Given the description of an element on the screen output the (x, y) to click on. 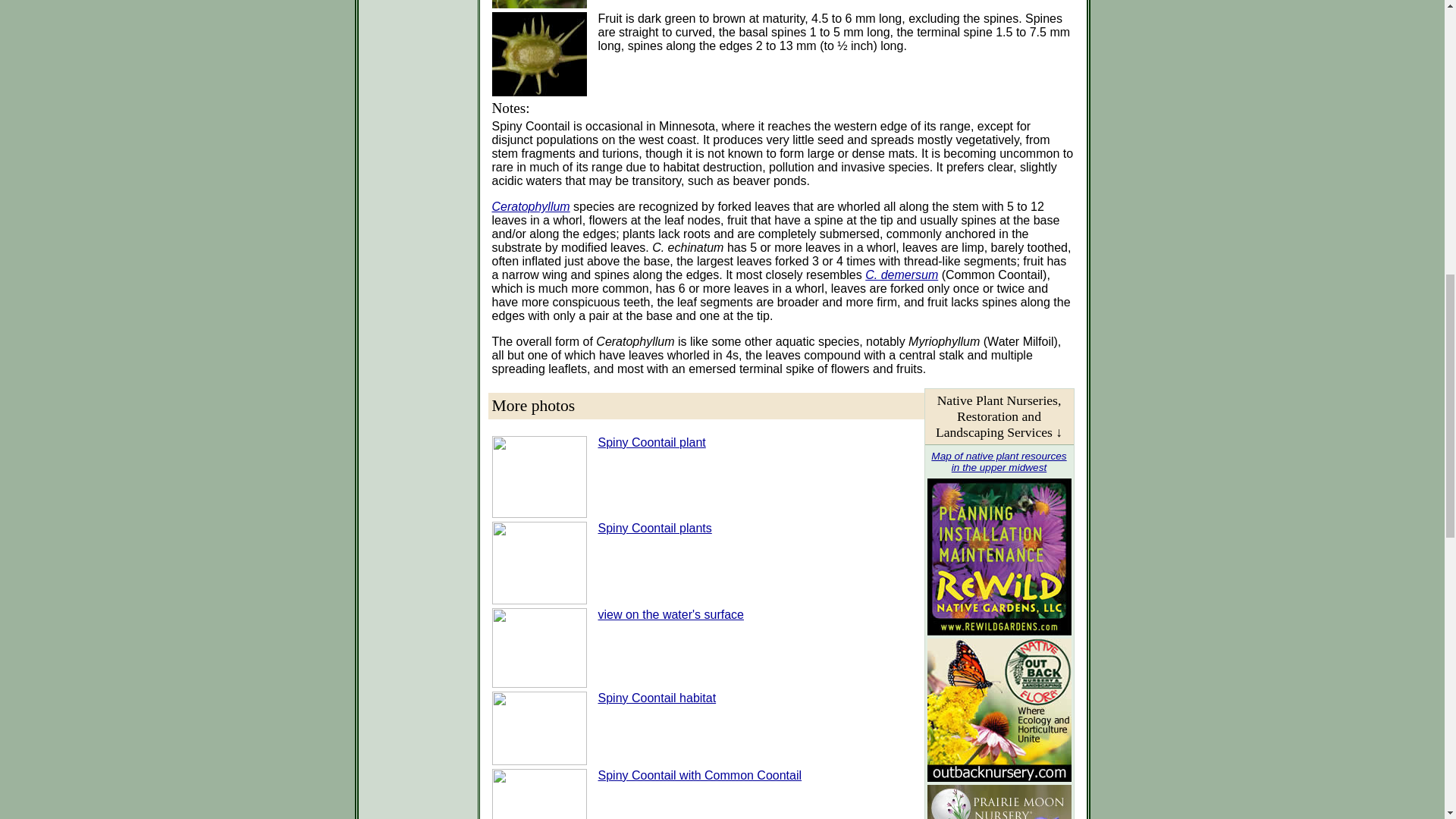
 Spiny Coontail plants (653, 527)
view on the water's surface (669, 614)
 view on the water's surface (669, 614)
Spiny Coontail with Common Coontail (699, 775)
 Spiny Coontail with Common Coontail (699, 775)
Spiny Coontail habitat (656, 697)
Ceratophyllum (530, 205)
Spiny Coontail plant (650, 440)
 Spiny Coontail plant (650, 440)
 Spiny Coontail habitat (656, 697)
